Given the description of an element on the screen output the (x, y) to click on. 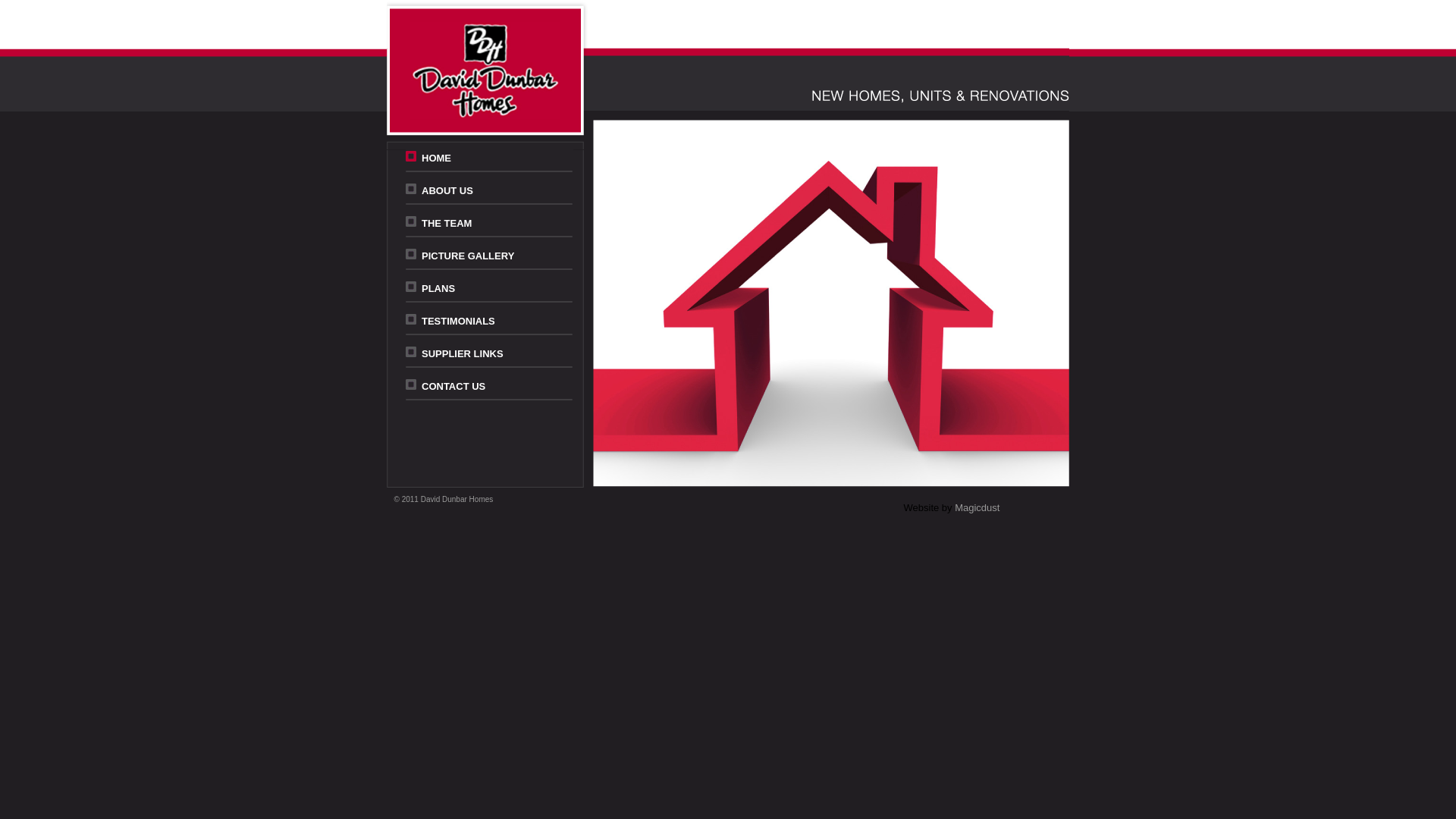
TESTIMONIALS Element type: text (458, 320)
Magicdust Element type: text (976, 507)
THE TEAM Element type: text (446, 222)
SUPPLIER LINKS Element type: text (462, 352)
HOME Element type: text (436, 157)
PLANS Element type: text (438, 287)
CONTACT US Element type: text (453, 386)
ABOUT US Element type: text (447, 190)
PICTURE GALLERY Element type: text (467, 255)
